Given the description of an element on the screen output the (x, y) to click on. 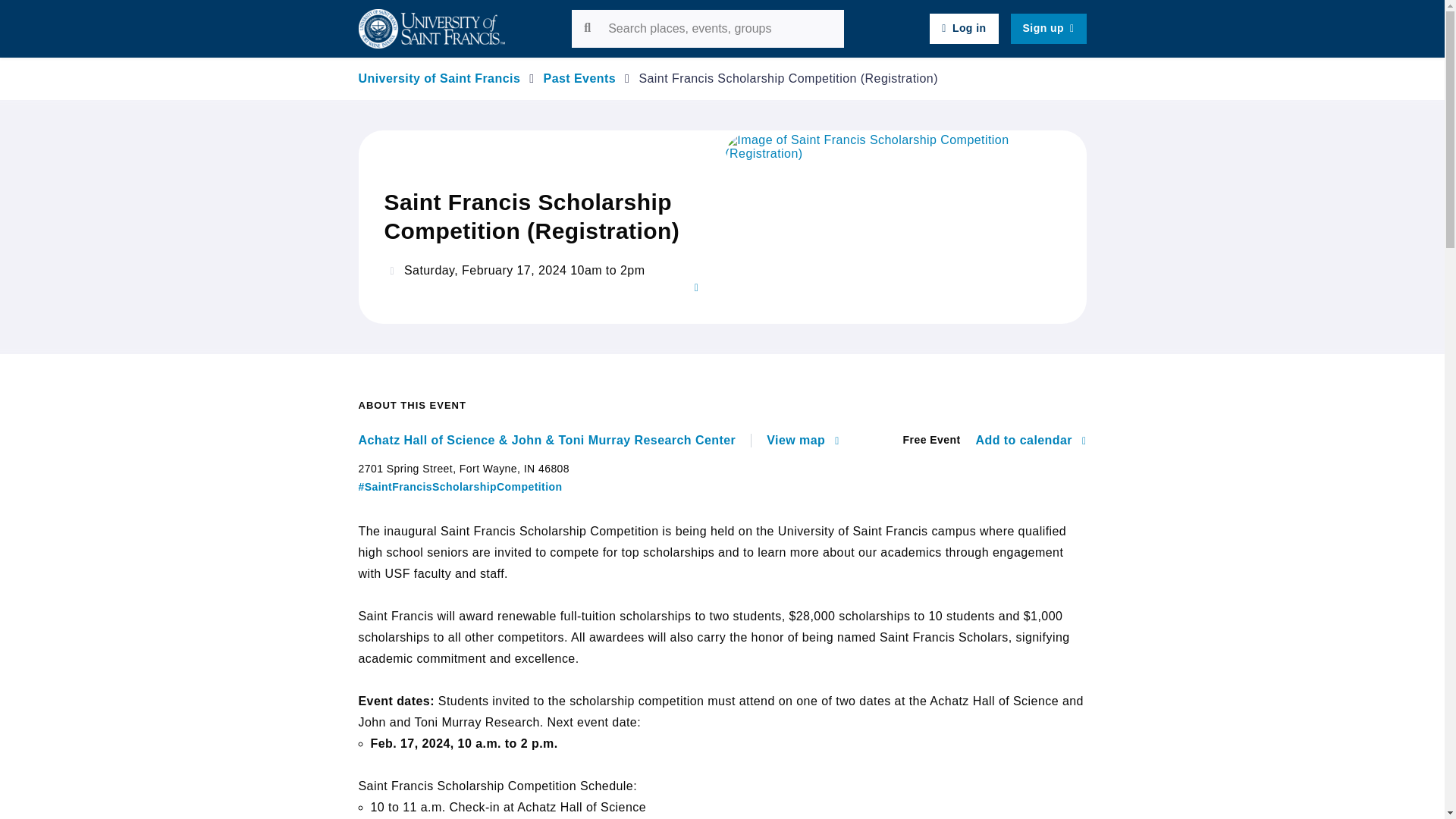
Log in (963, 28)
Add to calendar (1030, 440)
View map (802, 440)
Sign up (1048, 28)
University of Saint Francis (438, 78)
Past Events (579, 78)
